Given the description of an element on the screen output the (x, y) to click on. 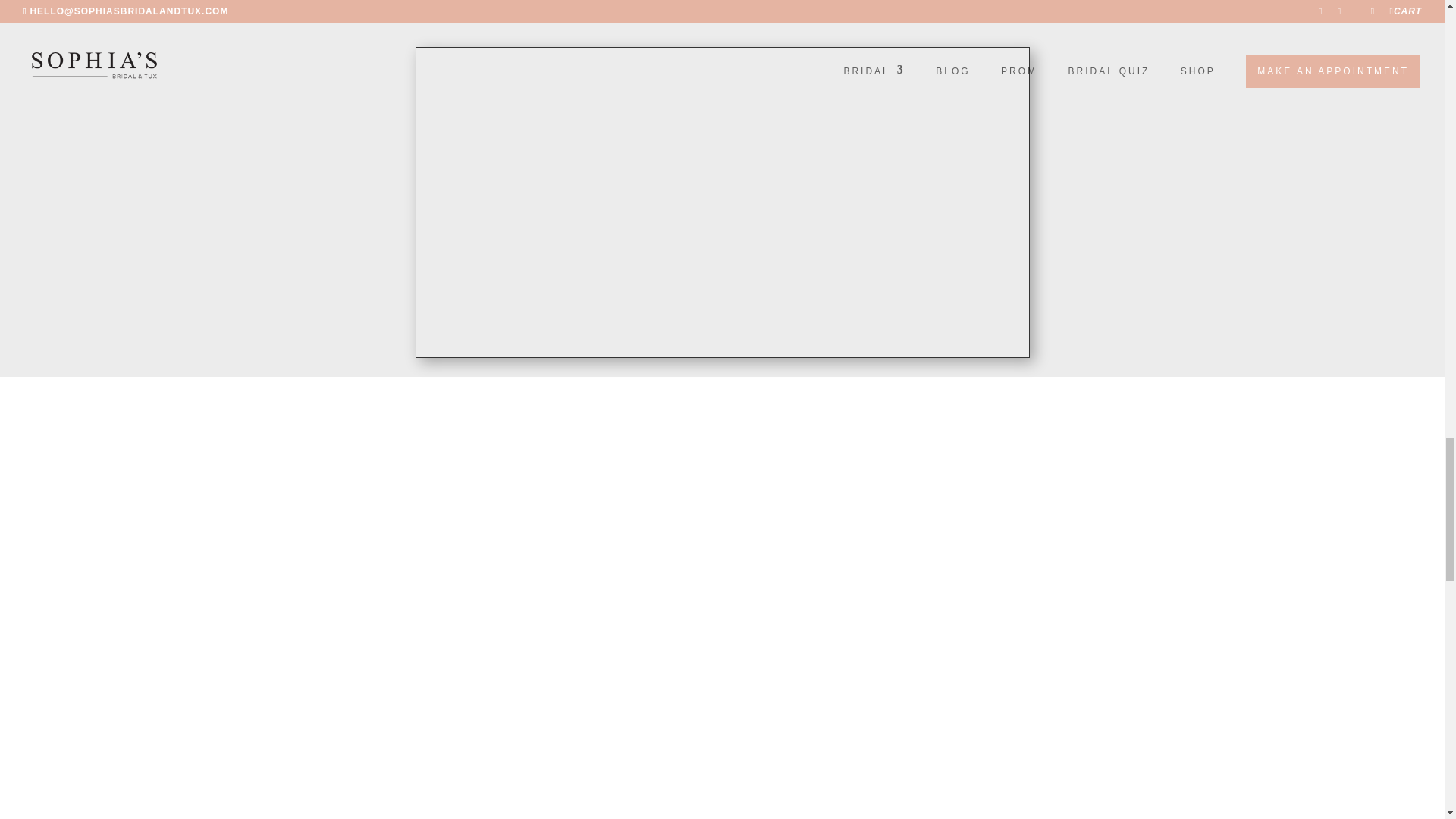
curved-text (1047, 785)
